Given the description of an element on the screen output the (x, y) to click on. 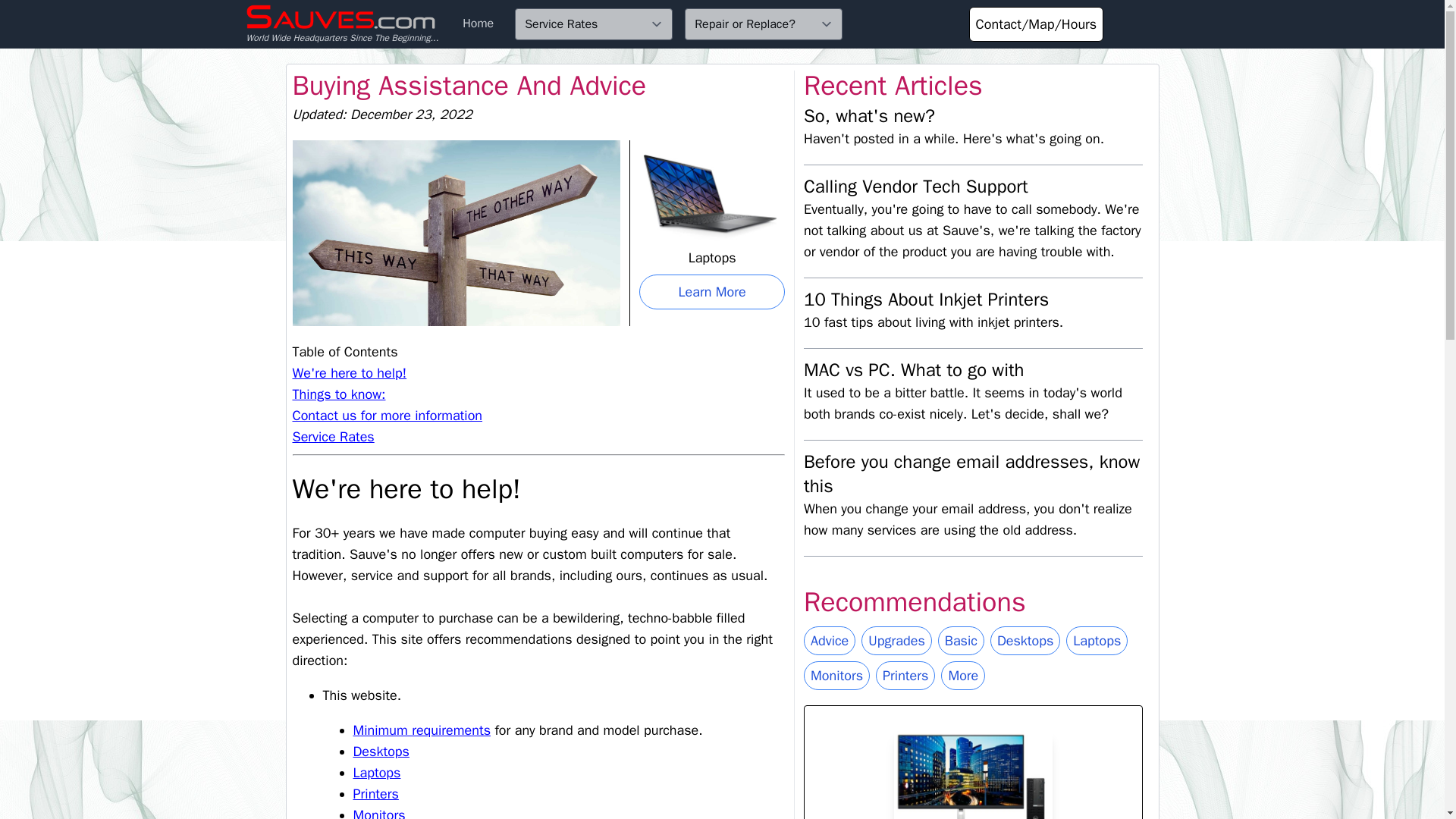
Basic (960, 640)
MAC vs PC. What to go with (914, 369)
Monitors (379, 812)
Buying Assistance (829, 640)
Laptop Recommendations (1095, 640)
Upgrade or Repair (896, 640)
Printers (375, 793)
Calling Vendor Tech Support (915, 186)
Desktops (1024, 640)
Laptops (377, 772)
